Given the description of an element on the screen output the (x, y) to click on. 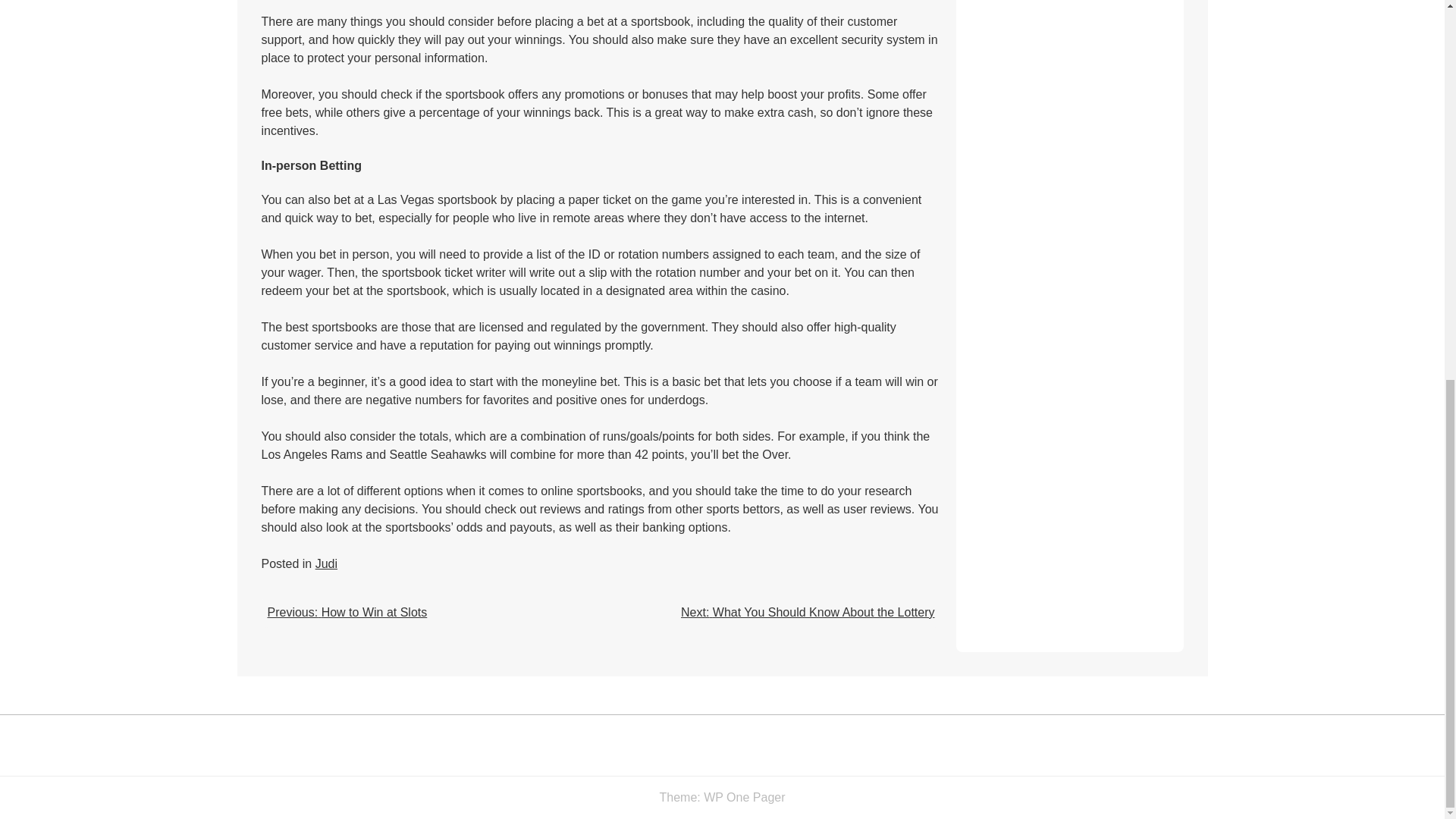
WP One Pager (743, 797)
Judi (326, 563)
Next: What You Should Know About the Lottery (807, 612)
Previous: How to Win at Slots (346, 612)
